Given the description of an element on the screen output the (x, y) to click on. 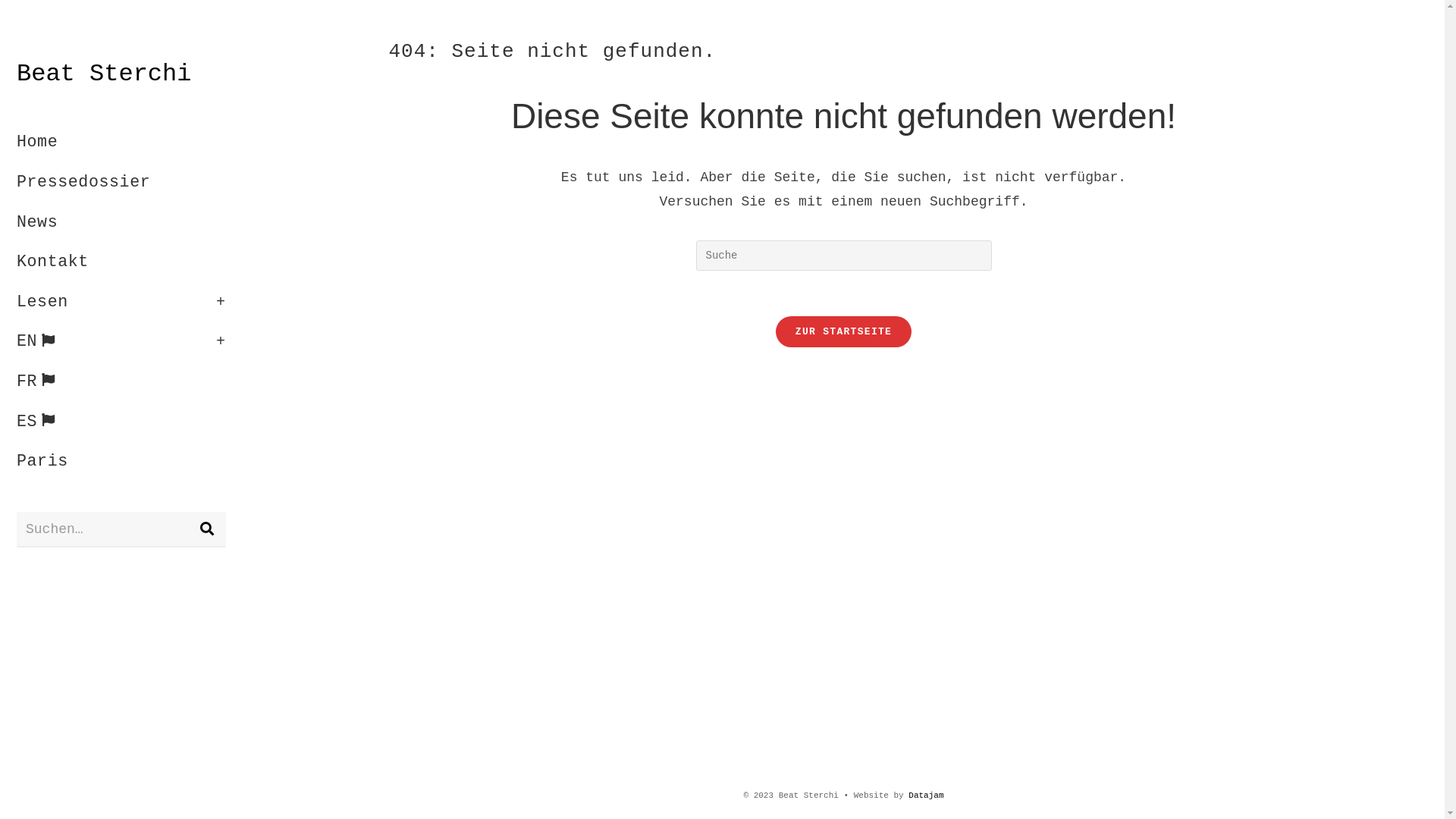
Home Element type: text (121, 142)
ZUR STARTSEITE Element type: text (843, 331)
Kontakt Element type: text (121, 262)
Lesen Element type: text (121, 302)
Submit search Element type: text (206, 529)
ES Element type: text (121, 422)
EN Element type: text (121, 341)
Beat Sterchi Element type: text (103, 73)
FR Element type: text (121, 381)
Datajam Element type: text (925, 795)
News Element type: text (121, 222)
Pressedossier Element type: text (121, 182)
Paris Element type: text (121, 461)
